Given the description of an element on the screen output the (x, y) to click on. 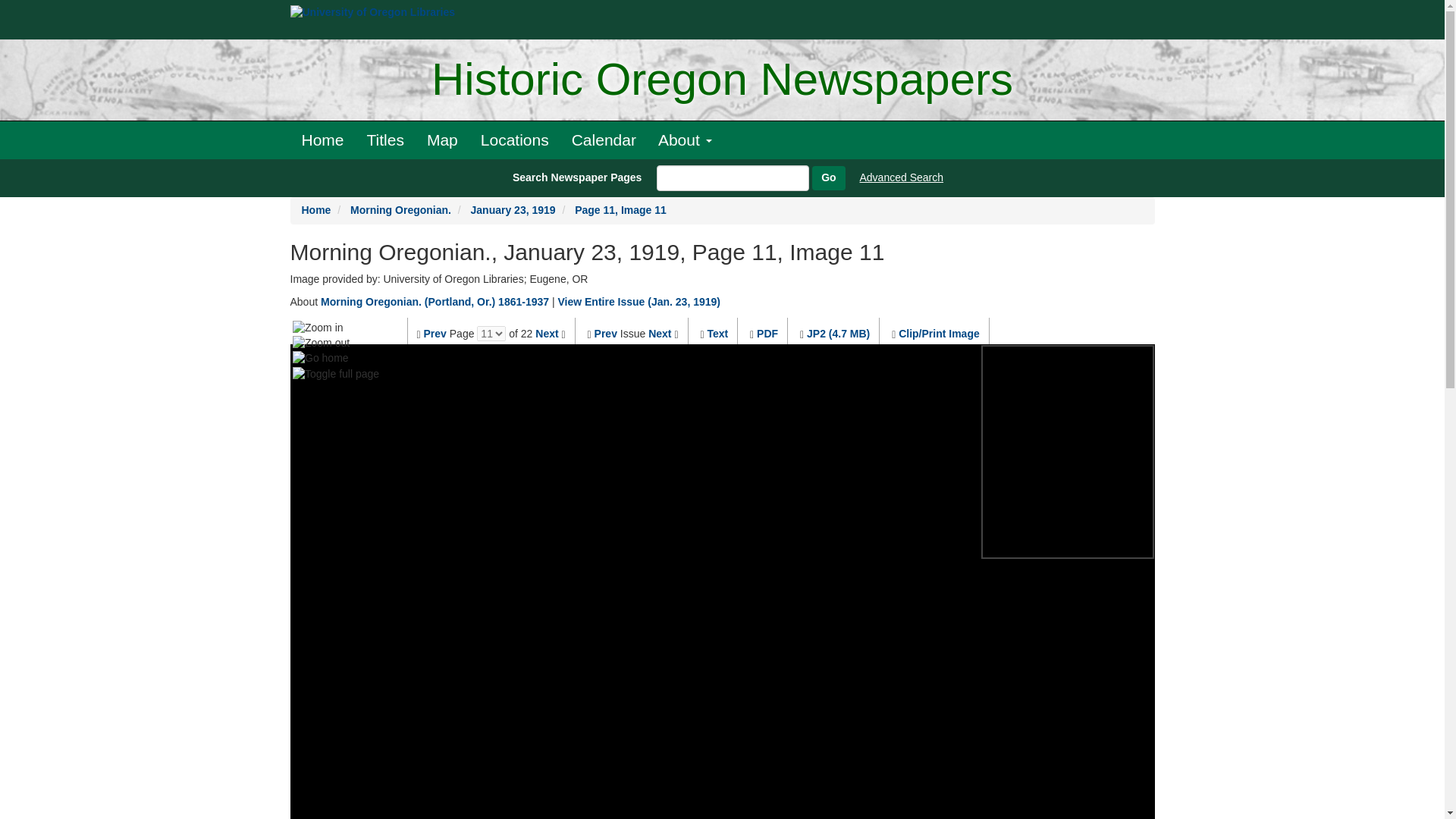
Map (441, 139)
Calendar (603, 139)
Page 11, Image 11 (620, 209)
January 23, 1919 (513, 209)
Next (546, 333)
Historic Oregon Newspapers (721, 79)
Titles (384, 139)
About (684, 140)
Next (659, 333)
Go home (320, 358)
